Given the description of an element on the screen output the (x, y) to click on. 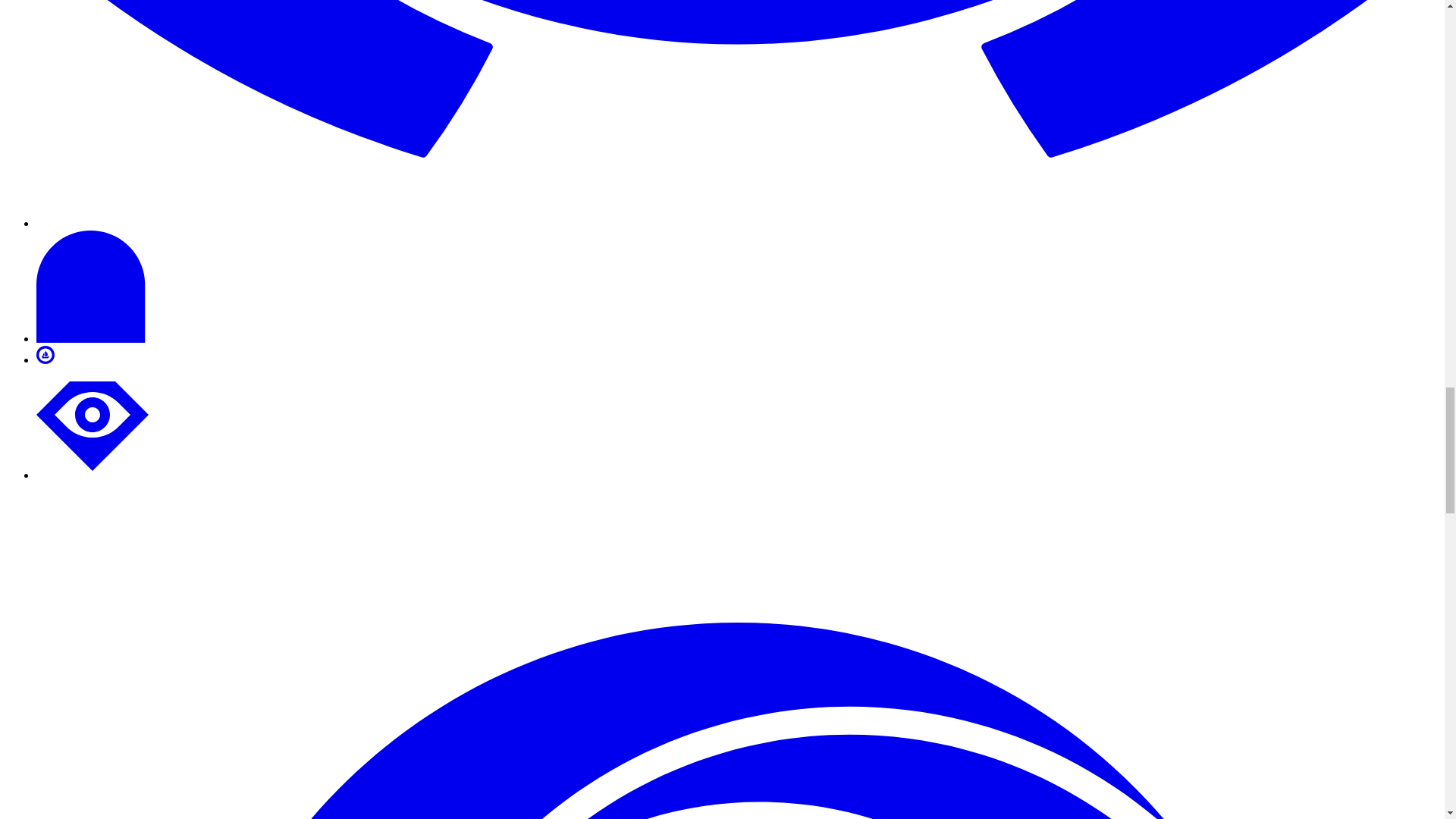
Read our Mirror (92, 338)
Trade on LooksRare (92, 474)
Trade on OpenSea (45, 359)
